Given the description of an element on the screen output the (x, y) to click on. 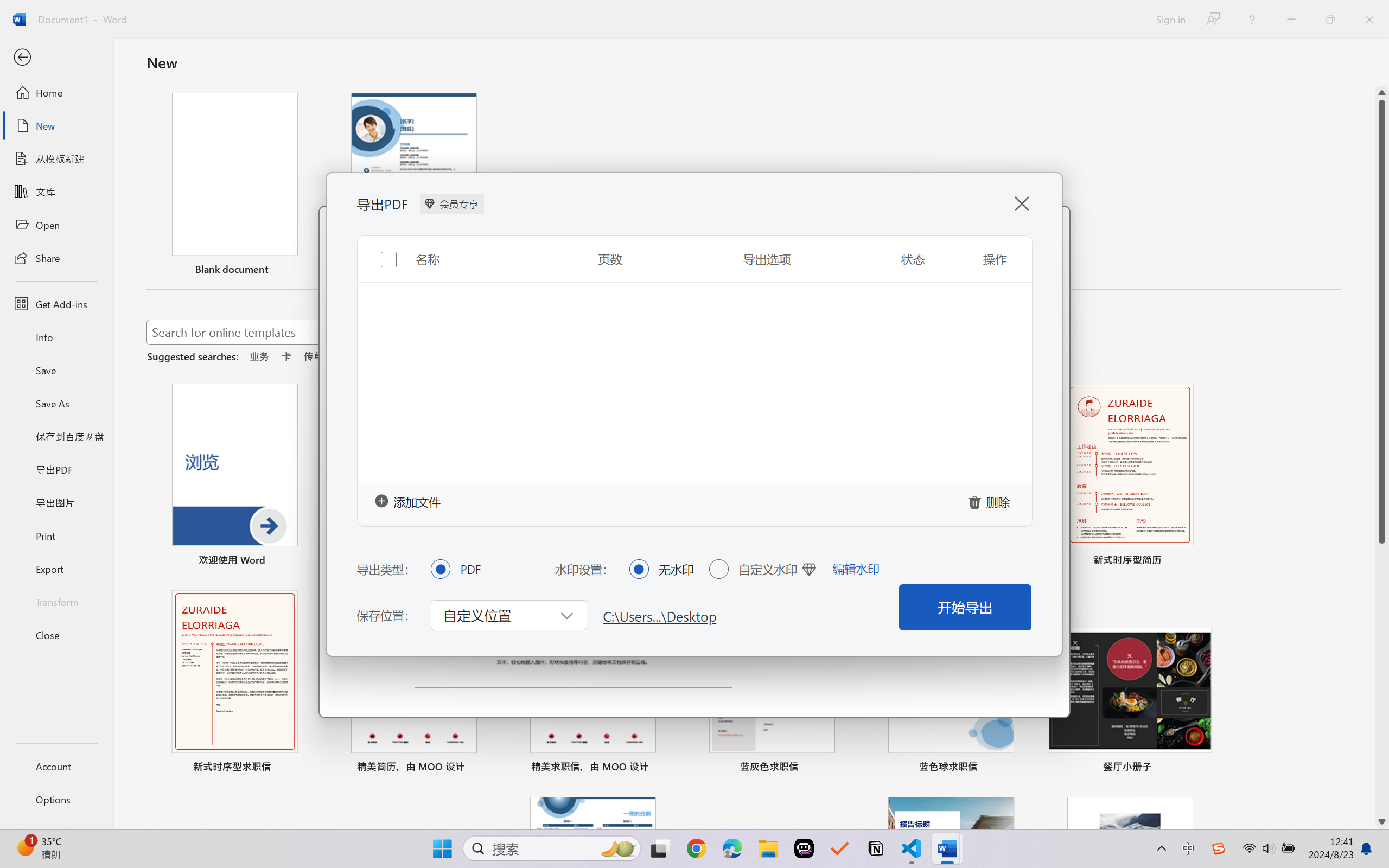
Export (56, 568)
